Given the description of an element on the screen output the (x, y) to click on. 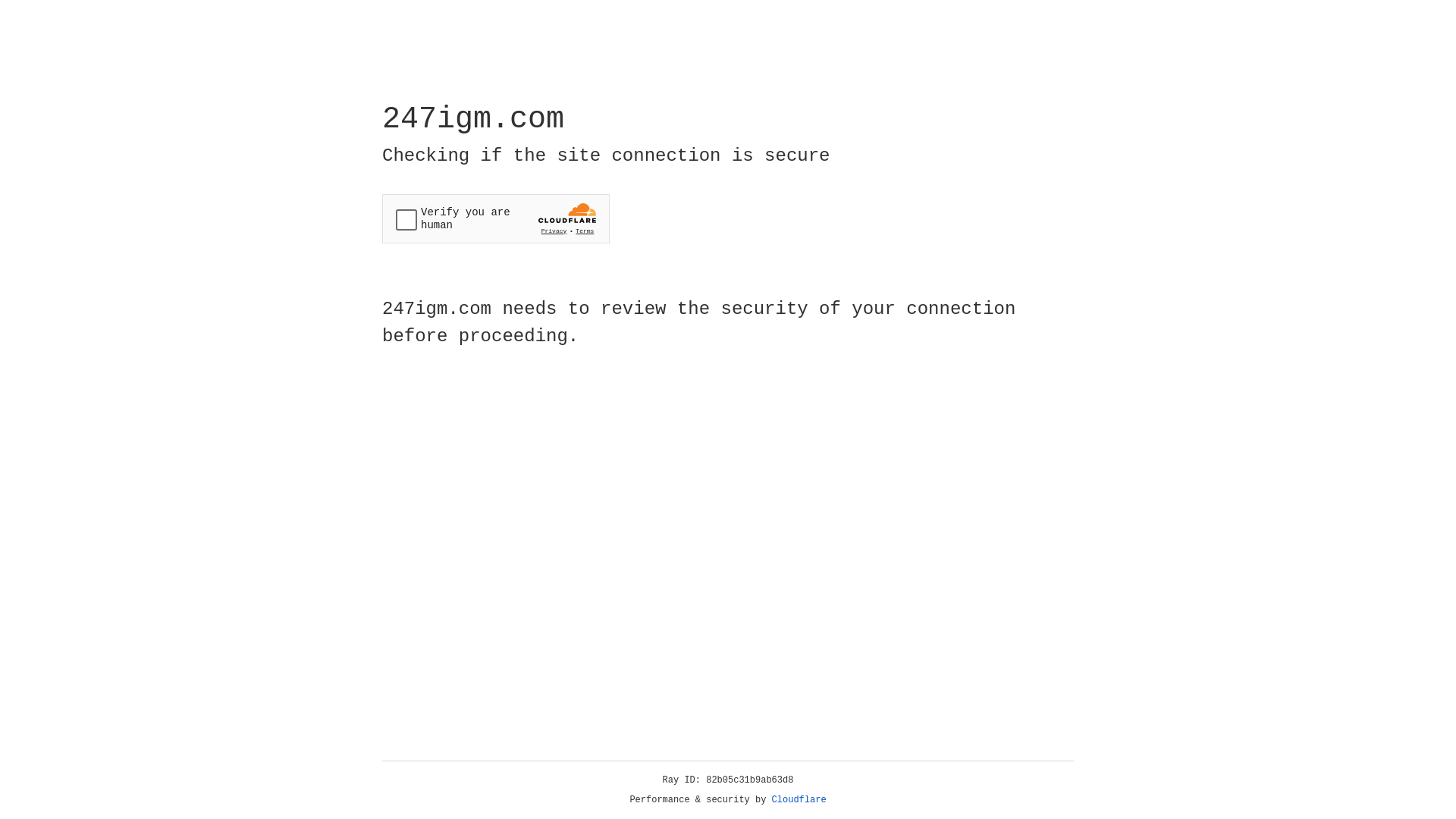
Cloudflare Element type: text (798, 799)
Widget containing a Cloudflare security challenge Element type: hover (495, 218)
